Given the description of an element on the screen output the (x, y) to click on. 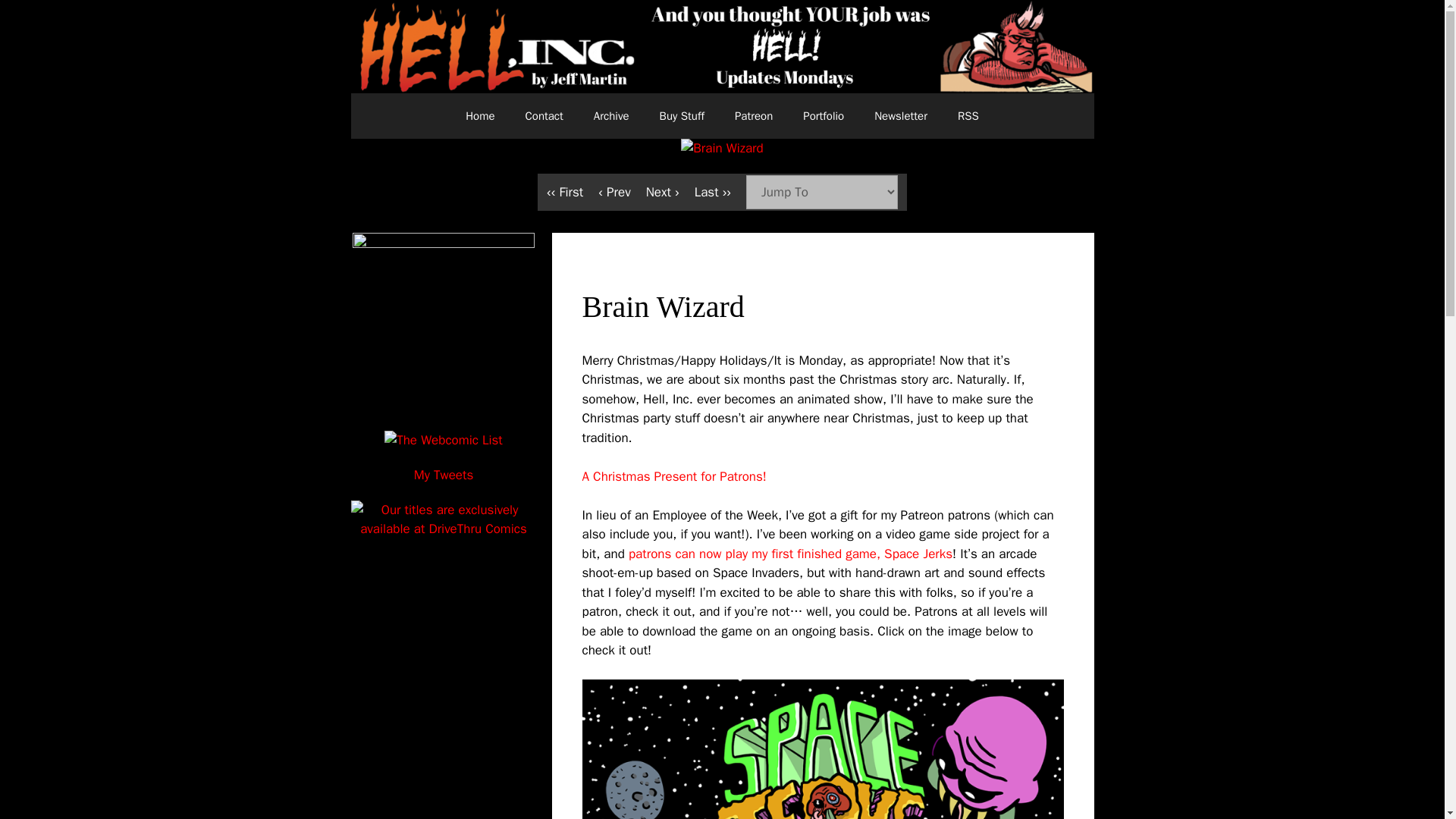
Home (479, 115)
Portfolio (823, 115)
A Christmas Present for Patrons! (674, 476)
My Tweets (443, 474)
patrons can now play my first finished game, Space Jerks (790, 553)
Contact (544, 115)
Archive (611, 115)
Patreon (753, 115)
Brain Wizard (721, 148)
Newsletter (900, 115)
Brain Wizard (721, 147)
RSS (968, 115)
Hell, Inc. (721, 45)
Hell, Inc. (721, 46)
Buy Stuff (682, 115)
